Given the description of an element on the screen output the (x, y) to click on. 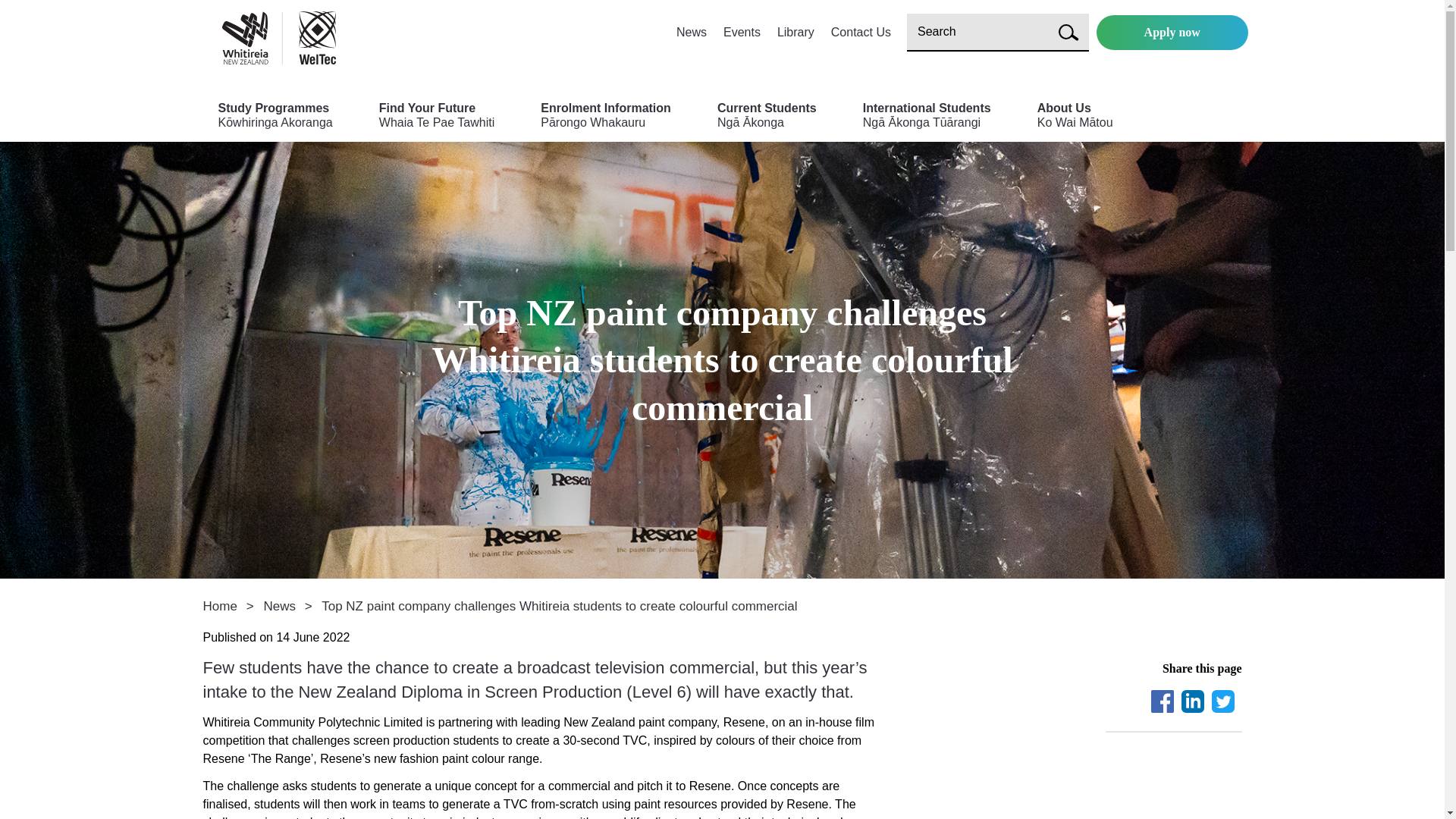
Go to the 'Events' page (436, 120)
Library (741, 31)
News (795, 31)
Share on LinkedIn (279, 605)
Go to the 'Library' page (1192, 701)
Go to the 'Enrolment Information' page (795, 31)
Go to the 'About Us' page (605, 120)
Share on Facebook (1074, 120)
Events (1162, 701)
Go to the 'Current Students' page (741, 31)
Home (766, 120)
Go to the 'News ' page (220, 605)
Go to the 'International Students' page (691, 31)
Go to the 'Home' page (927, 120)
